Given the description of an element on the screen output the (x, y) to click on. 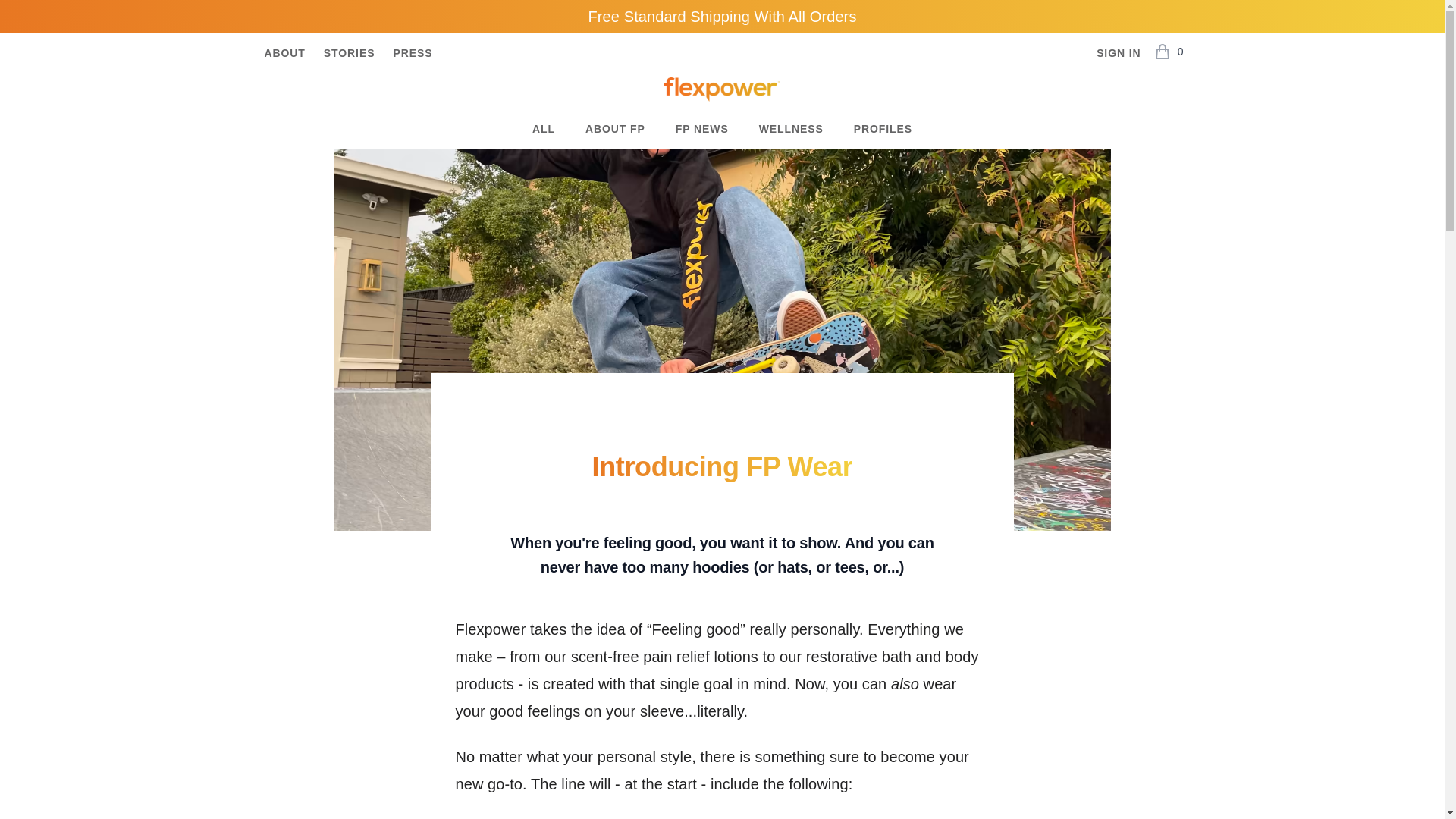
PRESS (412, 51)
SIGN IN (1118, 51)
STORIES (349, 51)
Flexpower (1168, 51)
ABOUT (721, 88)
